Given the description of an element on the screen output the (x, y) to click on. 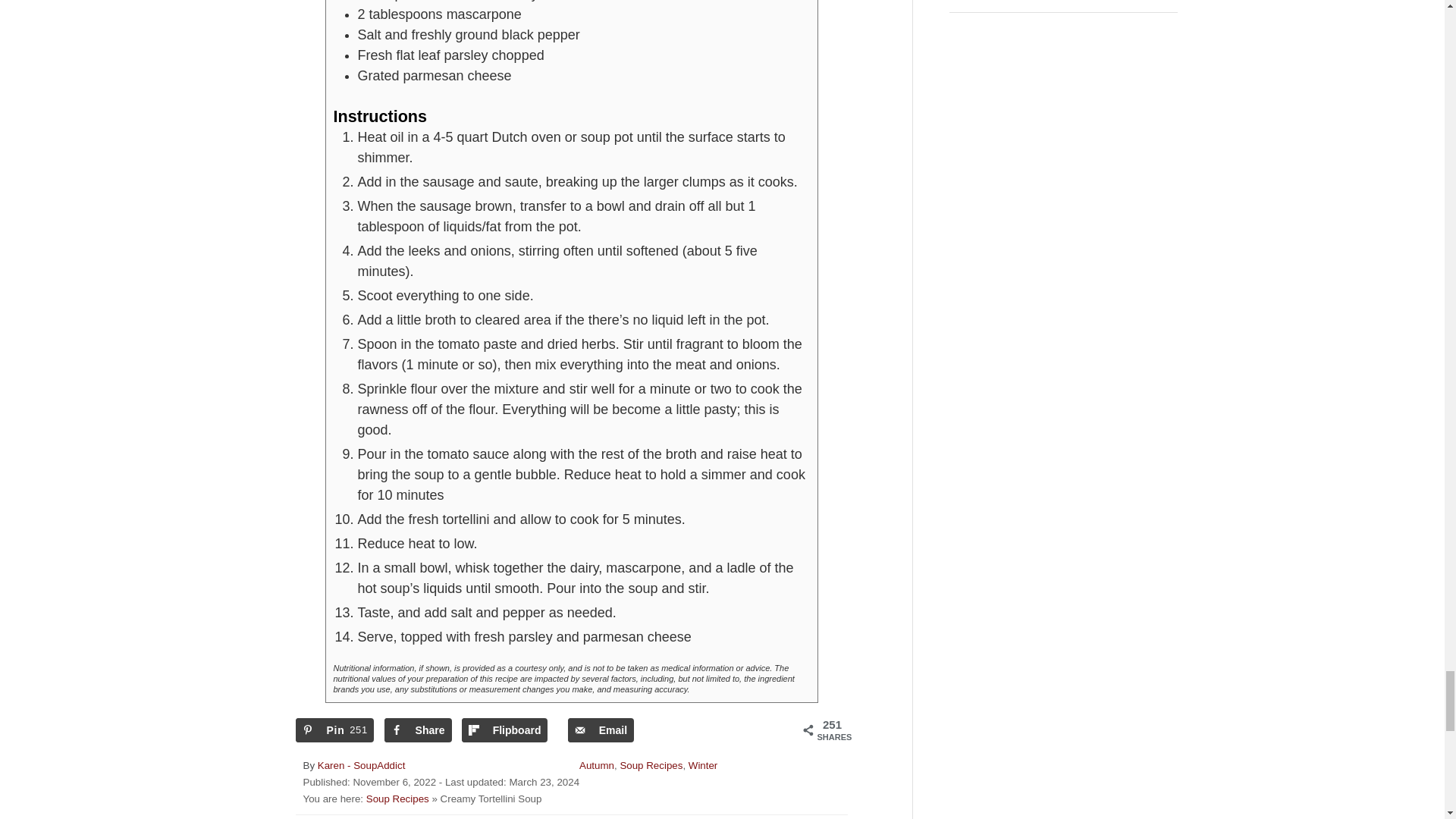
Save to Pinterest (334, 730)
Send over email (600, 730)
Share on Facebook (417, 730)
Share on Flipboard (504, 730)
